Given the description of an element on the screen output the (x, y) to click on. 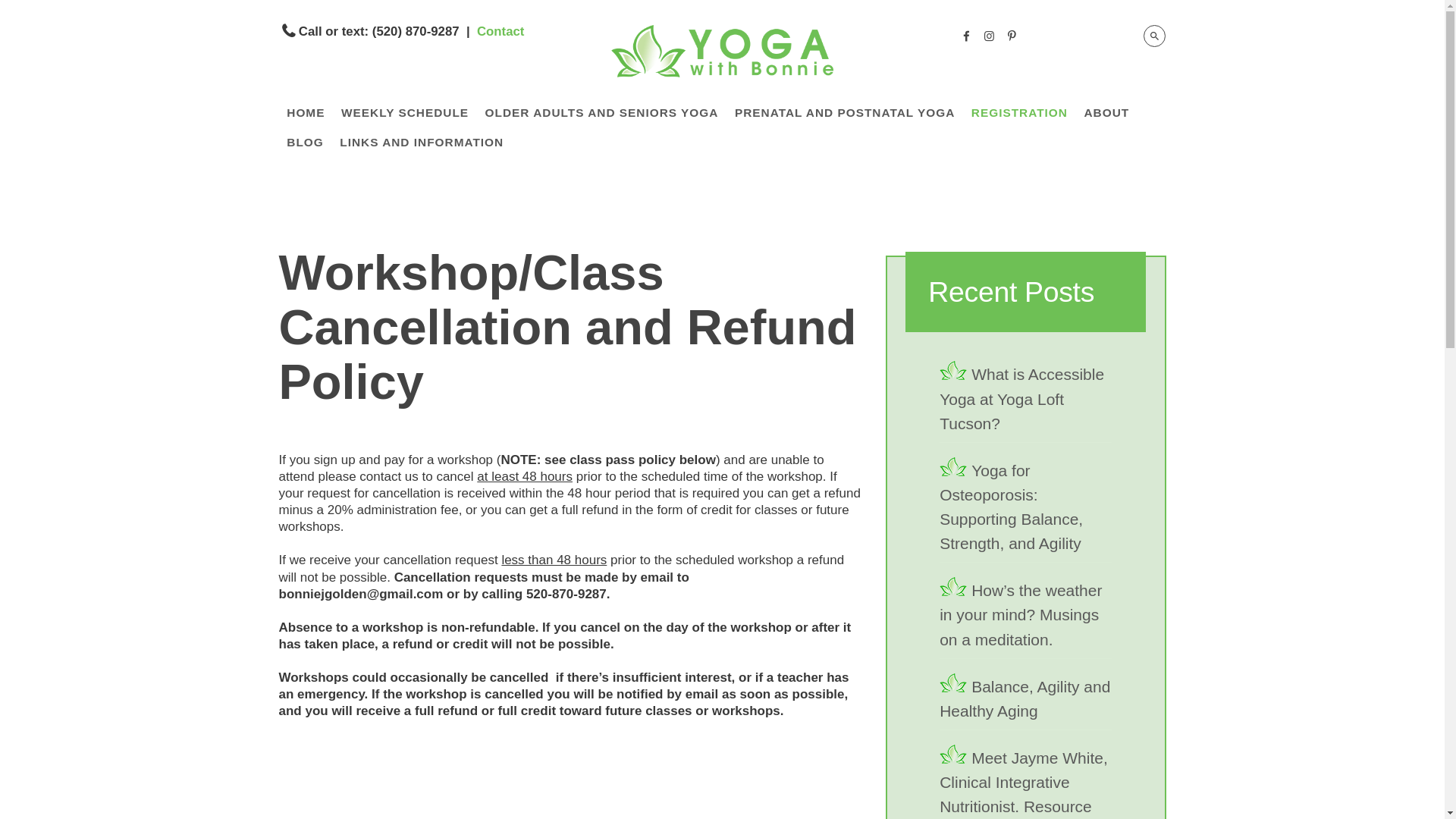
PRENATAL AND POSTNATAL YOGA (844, 111)
Contact (500, 31)
OLDER ADULTS AND SENIORS YOGA (601, 111)
ABOUT (1106, 111)
BLOG (305, 142)
LINKS AND INFORMATION (421, 142)
WEEKLY SCHEDULE (405, 111)
HOME (306, 111)
REGISTRATION (1018, 111)
